Given the description of an element on the screen output the (x, y) to click on. 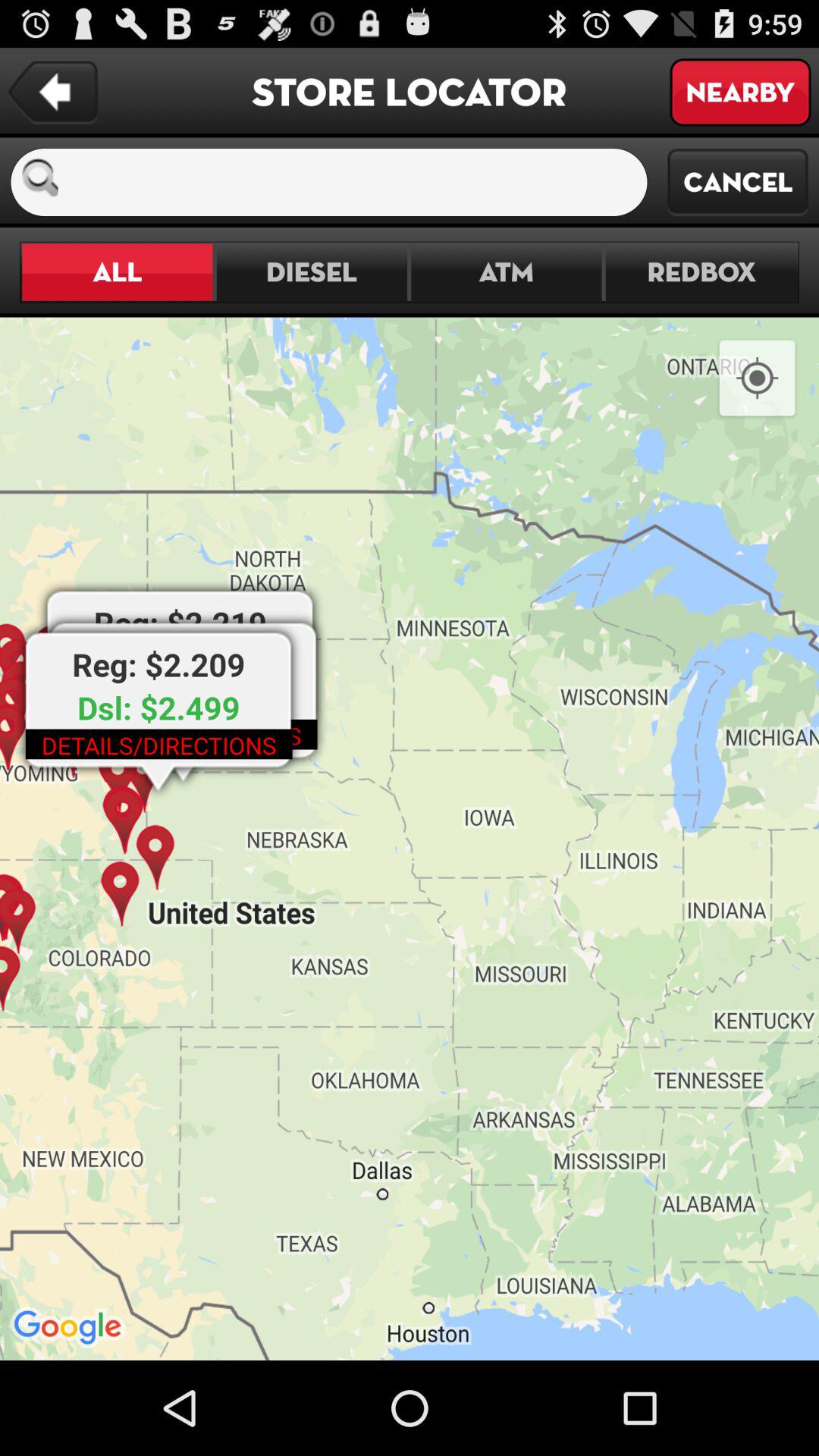
jump until the cancel item (737, 182)
